Given the description of an element on the screen output the (x, y) to click on. 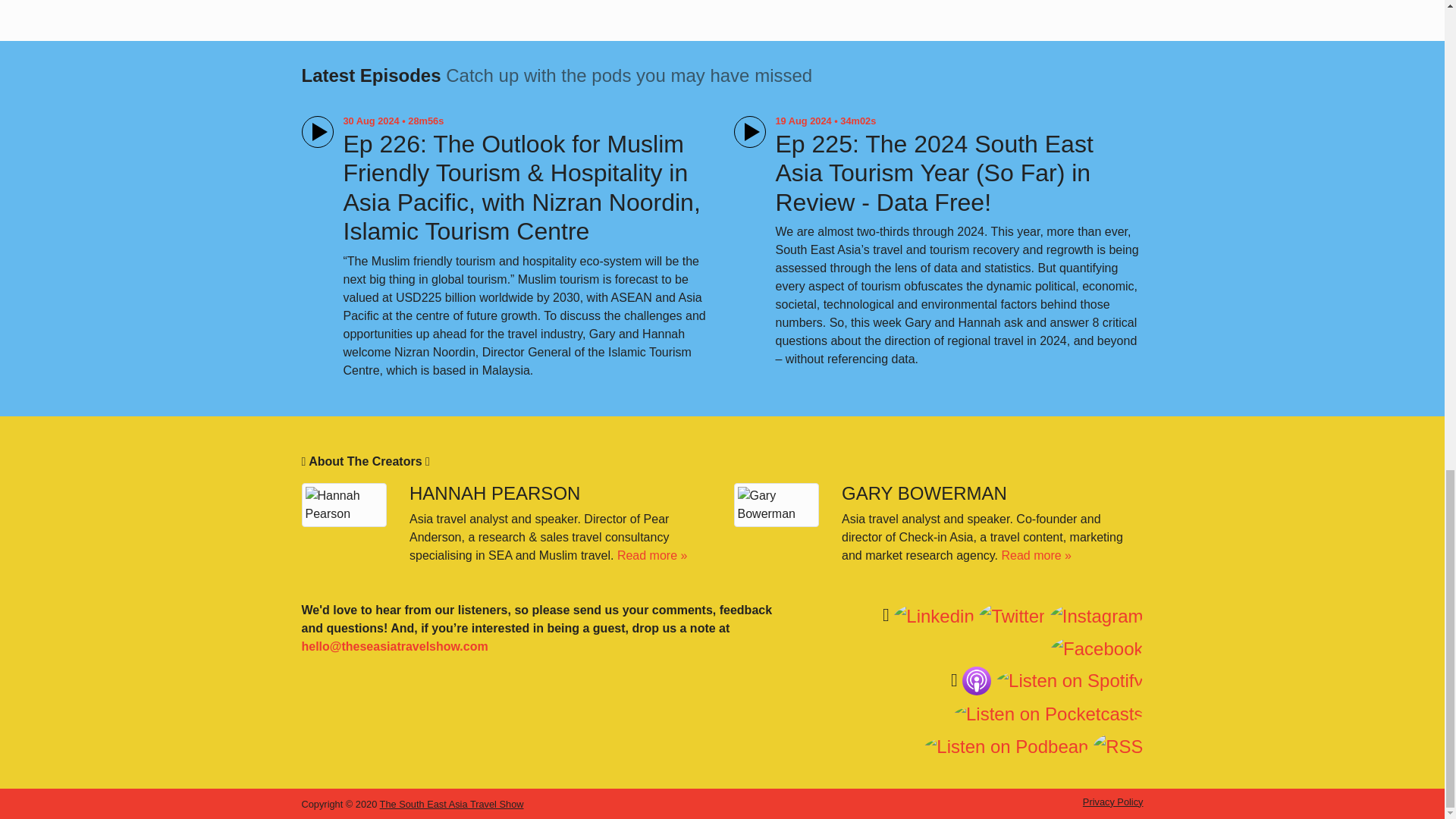
Privacy Policy (1112, 801)
The South East Asia Travel Show (452, 803)
Play (317, 132)
Play (749, 132)
